Given the description of an element on the screen output the (x, y) to click on. 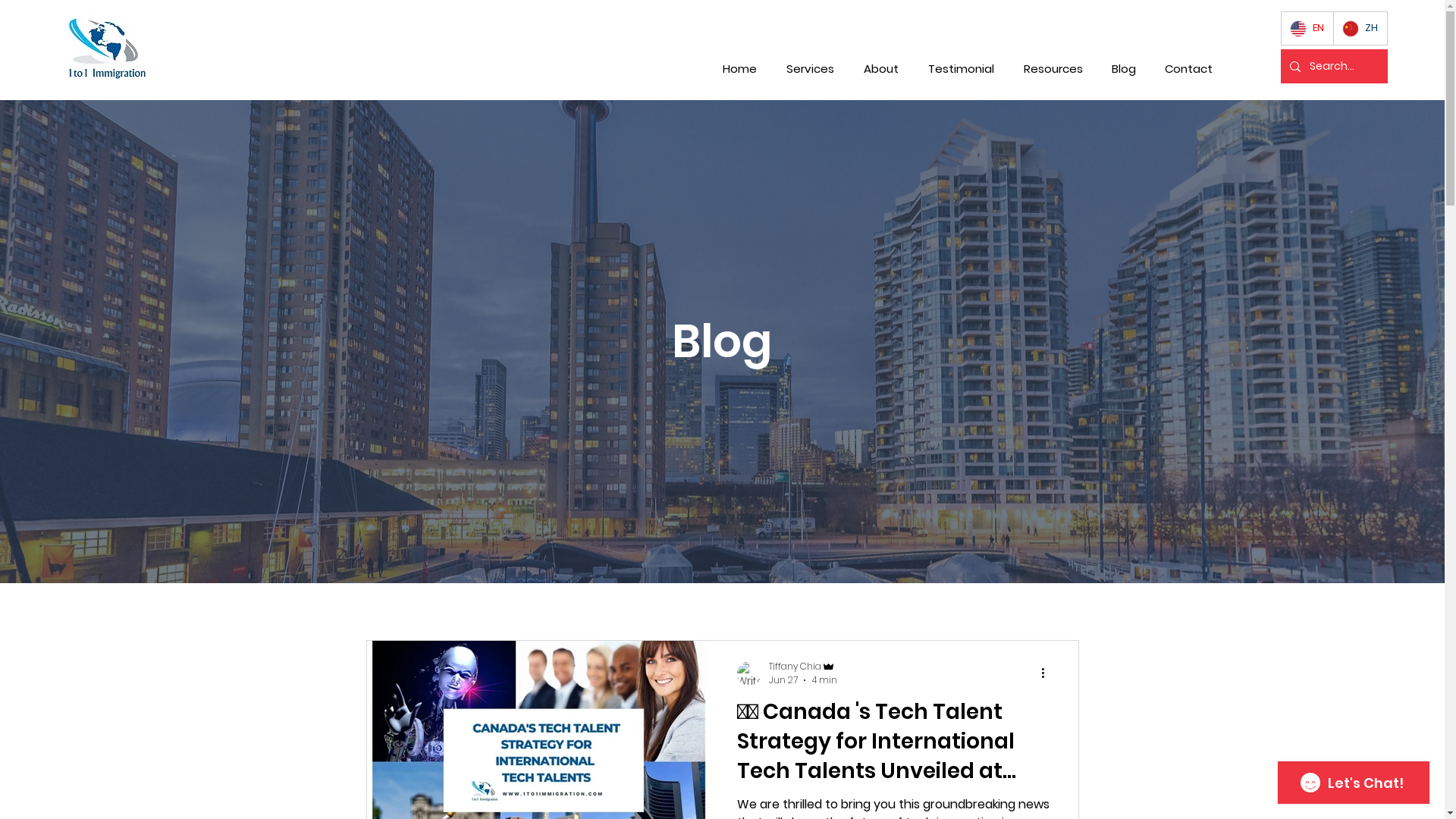
Testimonial Element type: text (960, 68)
Services Element type: text (809, 68)
Tiffany Chia Element type: text (802, 665)
Blog Element type: text (1123, 68)
Contact Element type: text (1188, 68)
ZH Element type: text (1359, 28)
EN Element type: text (1307, 28)
About Element type: text (880, 68)
Resources Element type: text (1052, 68)
Home Element type: text (739, 68)
